Given the description of an element on the screen output the (x, y) to click on. 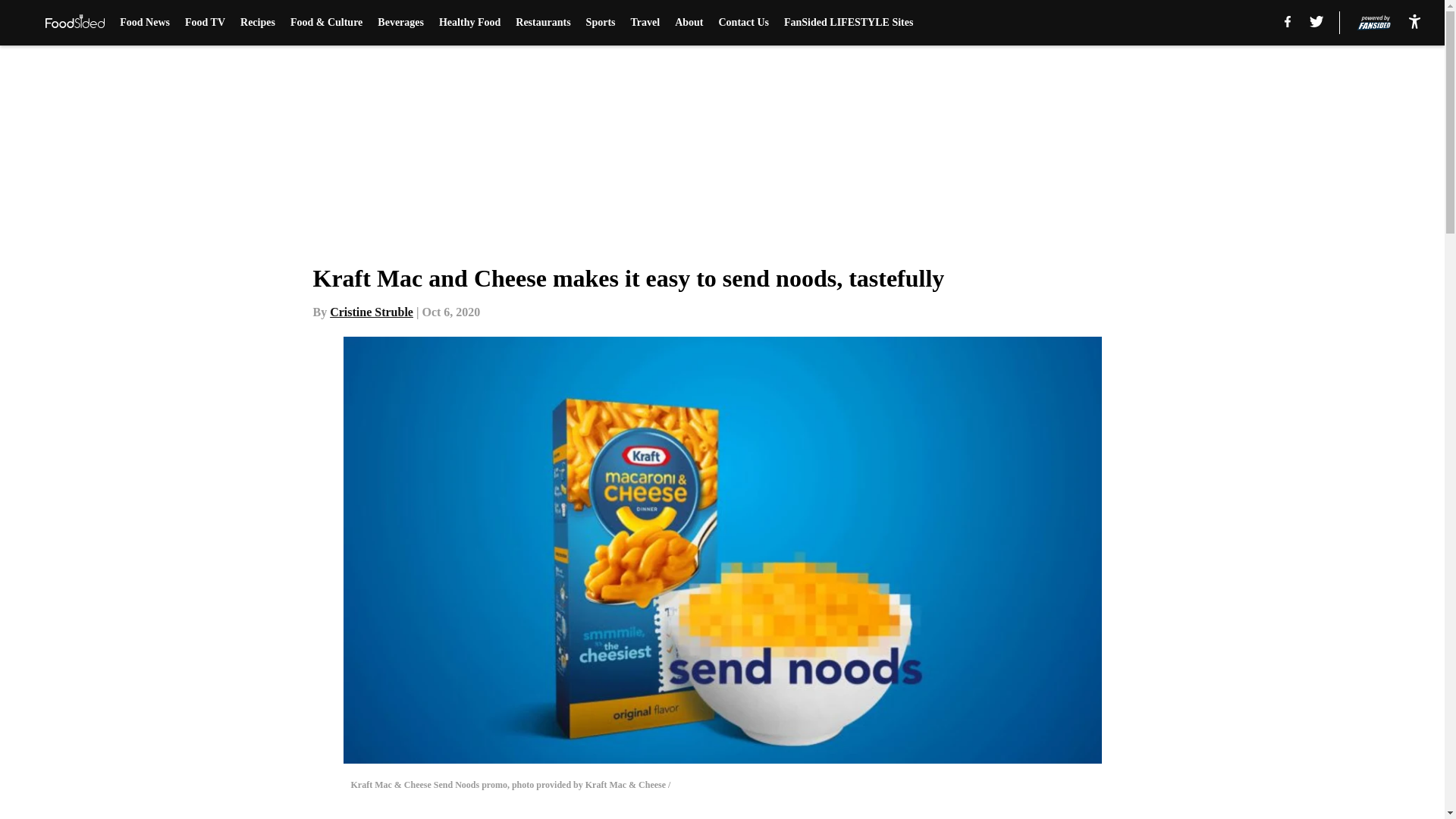
Recipes (257, 22)
Cristine Struble (371, 311)
Beverages (400, 22)
Food News (144, 22)
Contact Us (744, 22)
Restaurants (542, 22)
Travel (645, 22)
Food TV (204, 22)
FanSided LIFESTYLE Sites (848, 22)
About (689, 22)
